Given the description of an element on the screen output the (x, y) to click on. 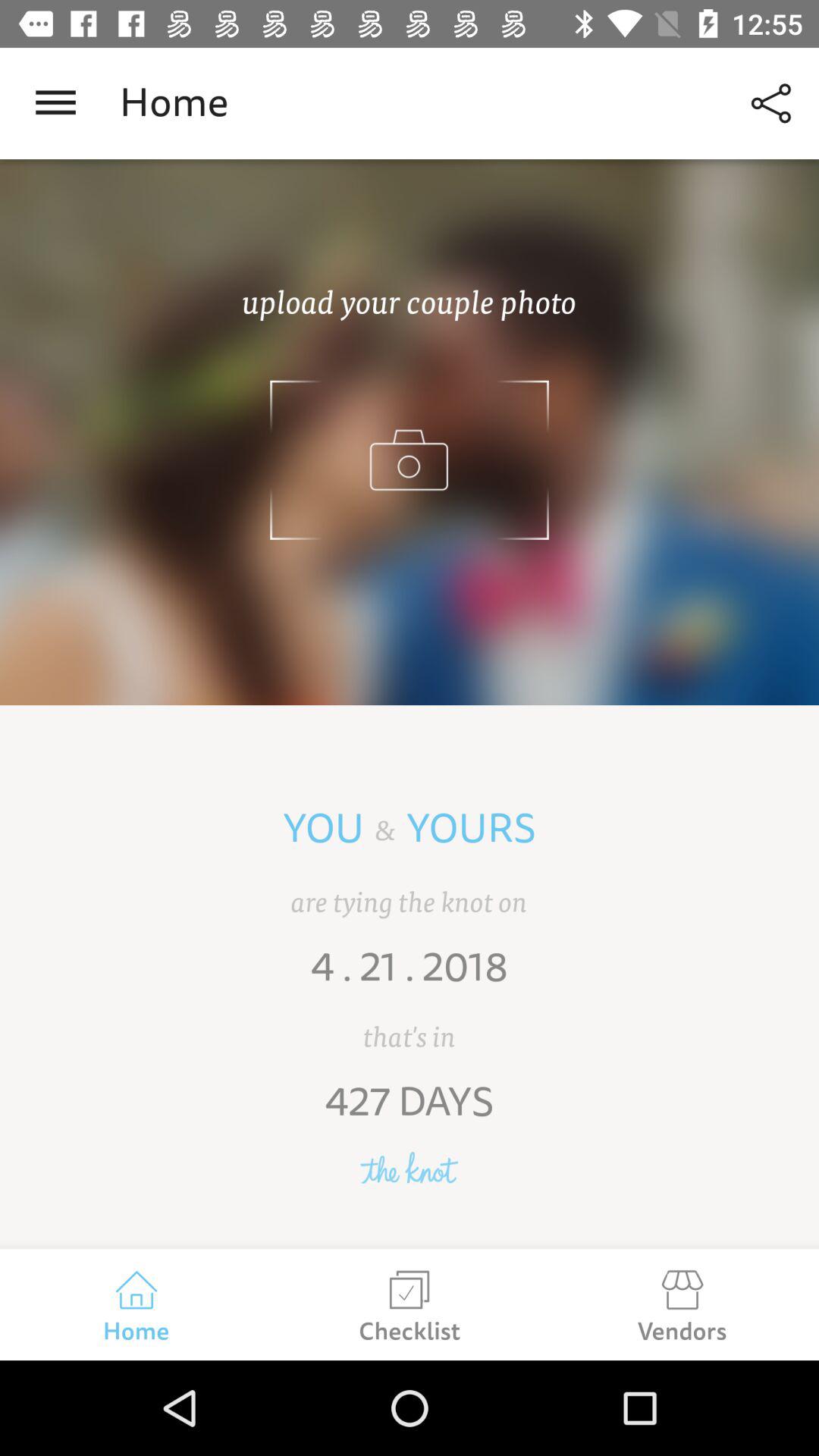
launch the item next to the home icon (55, 103)
